Given the description of an element on the screen output the (x, y) to click on. 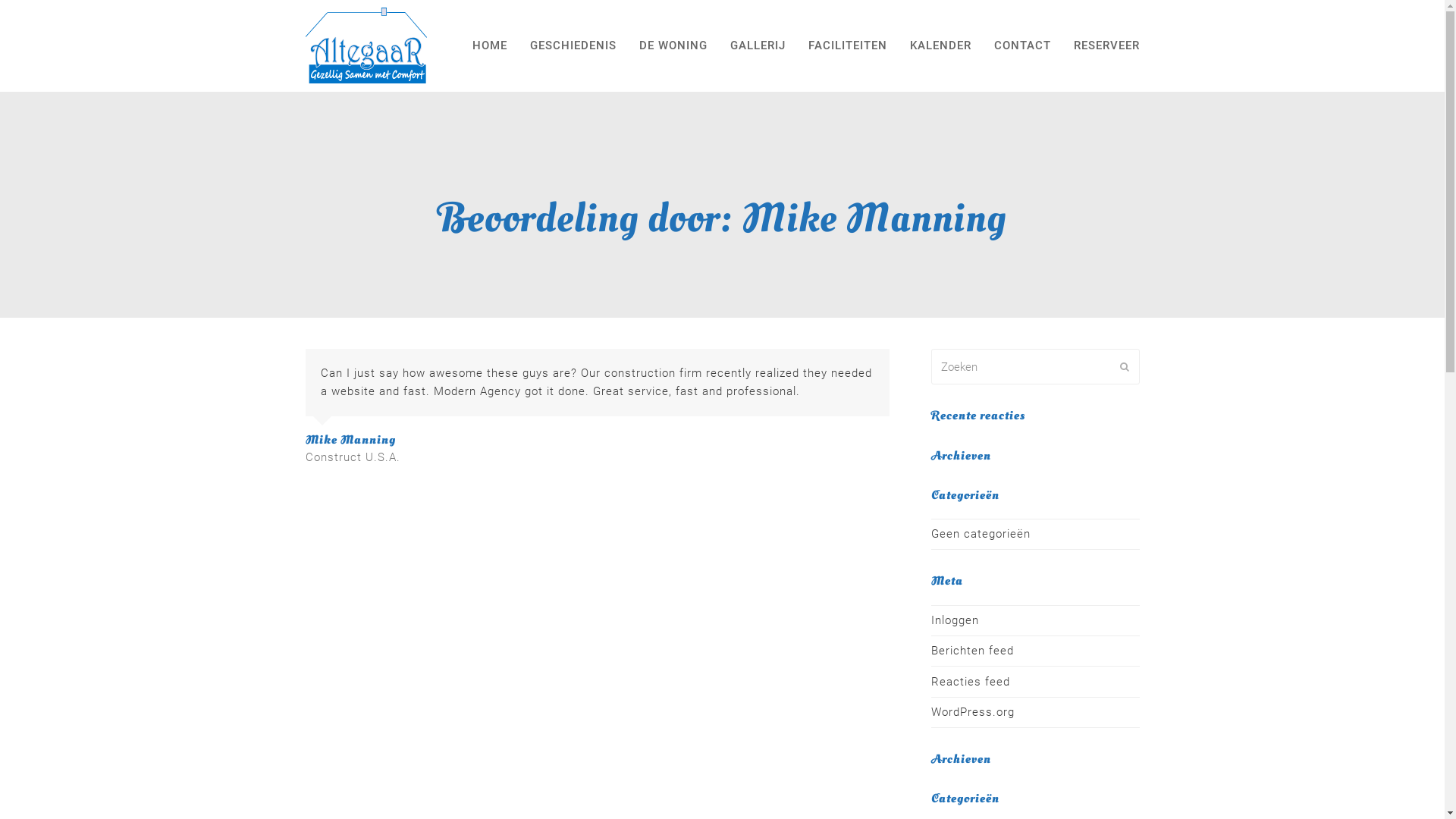
GESCHIEDENIS Element type: text (572, 45)
Construct U.S.A. Element type: text (351, 457)
HOME Element type: text (489, 45)
FACILITEITEN Element type: text (846, 45)
WordPress.org Element type: text (972, 711)
Inloggen Element type: text (955, 620)
Reacties feed Element type: text (970, 681)
VERZENDEN Element type: text (1123, 366)
RESERVEER Element type: text (1105, 45)
GALLERIJ Element type: text (757, 45)
Berichten feed Element type: text (972, 650)
CONTACT Element type: text (1022, 45)
KALENDER Element type: text (939, 45)
DE WONING Element type: text (672, 45)
